Given the description of an element on the screen output the (x, y) to click on. 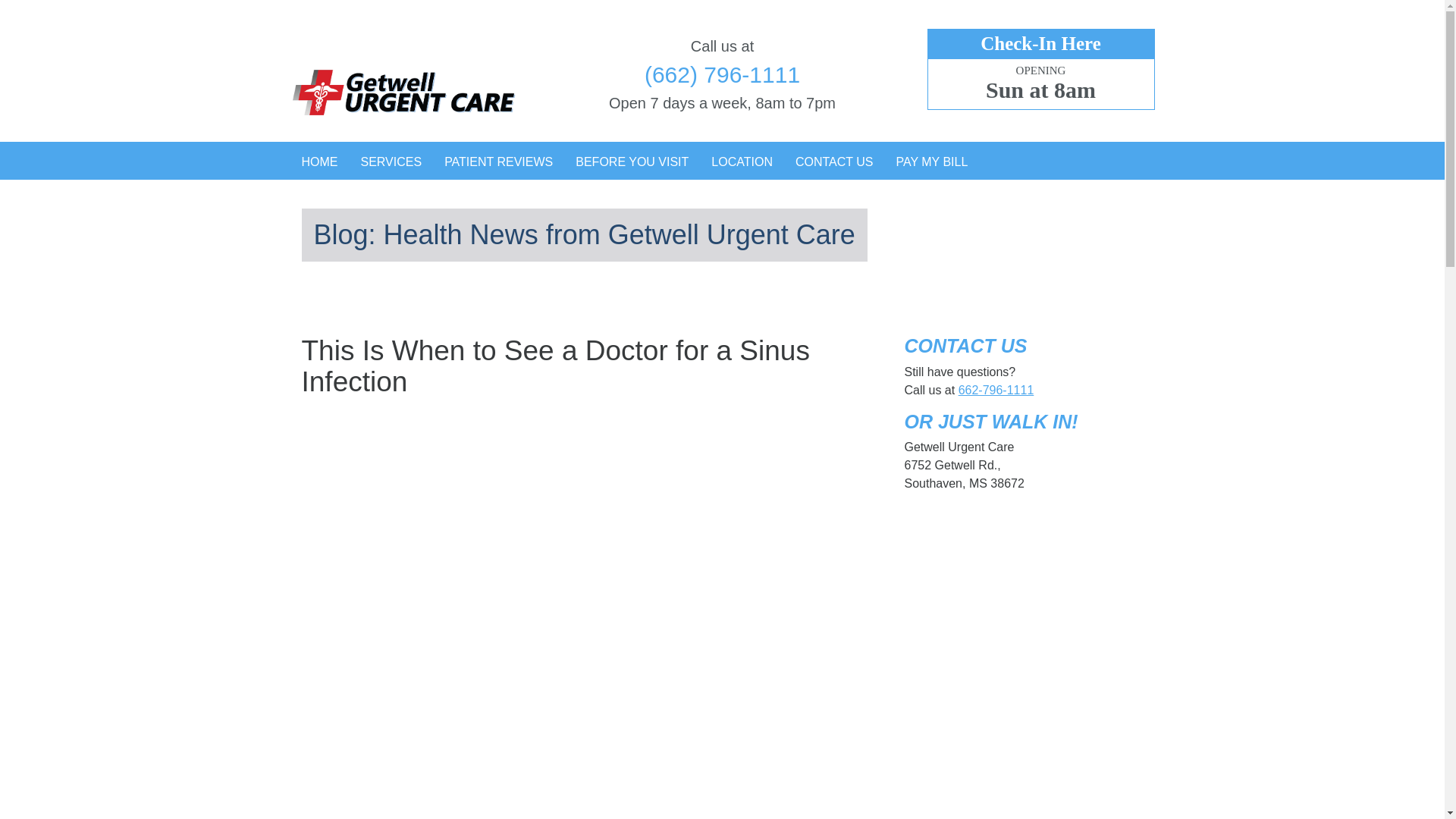
SERVICES (390, 161)
HOME (319, 161)
662-796-1111 (995, 390)
BEFORE YOU VISIT (632, 161)
PAY MY BILL (930, 161)
LOCATION (742, 161)
Urgent Care Southaven Logo (402, 59)
PATIENT REVIEWS (498, 161)
CONTACT US (834, 161)
